Given the description of an element on the screen output the (x, y) to click on. 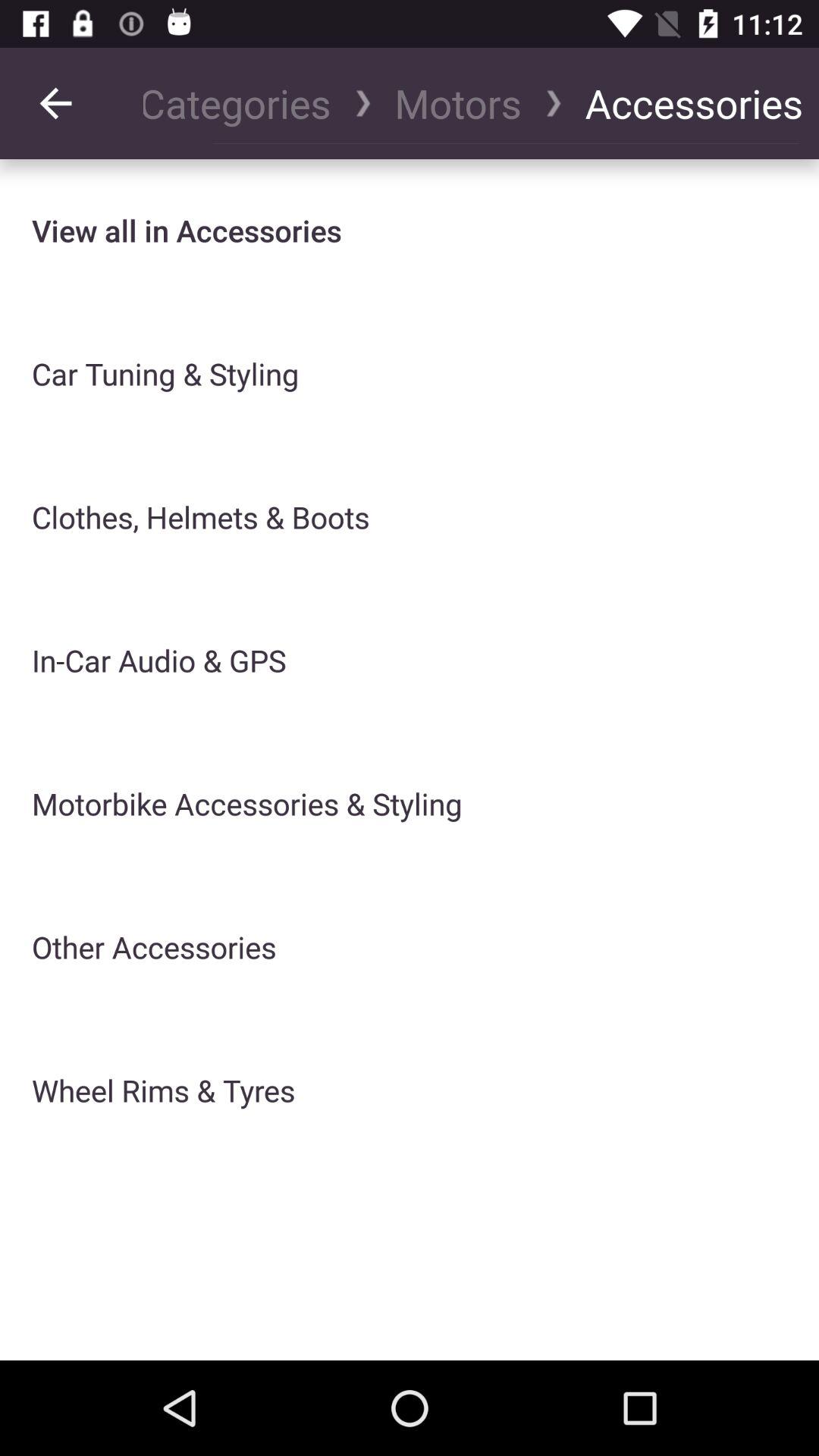
flip until other accessories item (153, 947)
